Given the description of an element on the screen output the (x, y) to click on. 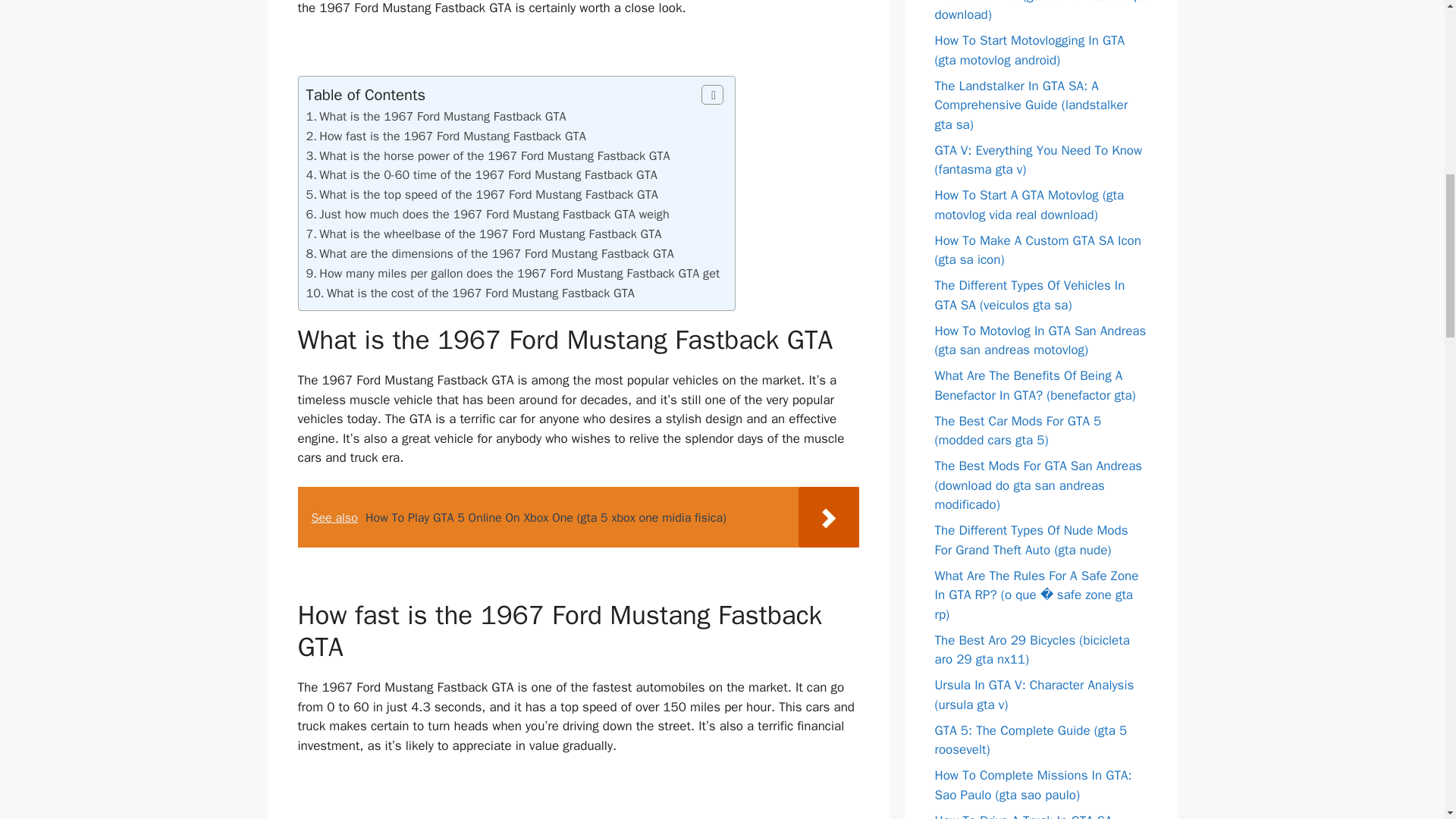
What is the cost of the 1967 Ford Mustang Fastback GTA (480, 293)
How fast is the 1967 Ford Mustang Fastback GTA (451, 135)
What is the cost of the 1967 Ford Mustang Fastback GTA (480, 293)
Just how much does the 1967 Ford Mustang Fastback GTA weigh (493, 213)
How fast is the 1967 Ford Mustang Fastback GTA (451, 135)
What is the 0-60 time of the 1967 Ford Mustang Fastback GTA (488, 174)
What is the wheelbase of the 1967 Ford Mustang Fastback GTA (489, 233)
What is the 1967 Ford Mustang Fastback GTA (442, 116)
What is the top speed of the 1967 Ford Mustang Fastback GTA (488, 194)
